Given the description of an element on the screen output the (x, y) to click on. 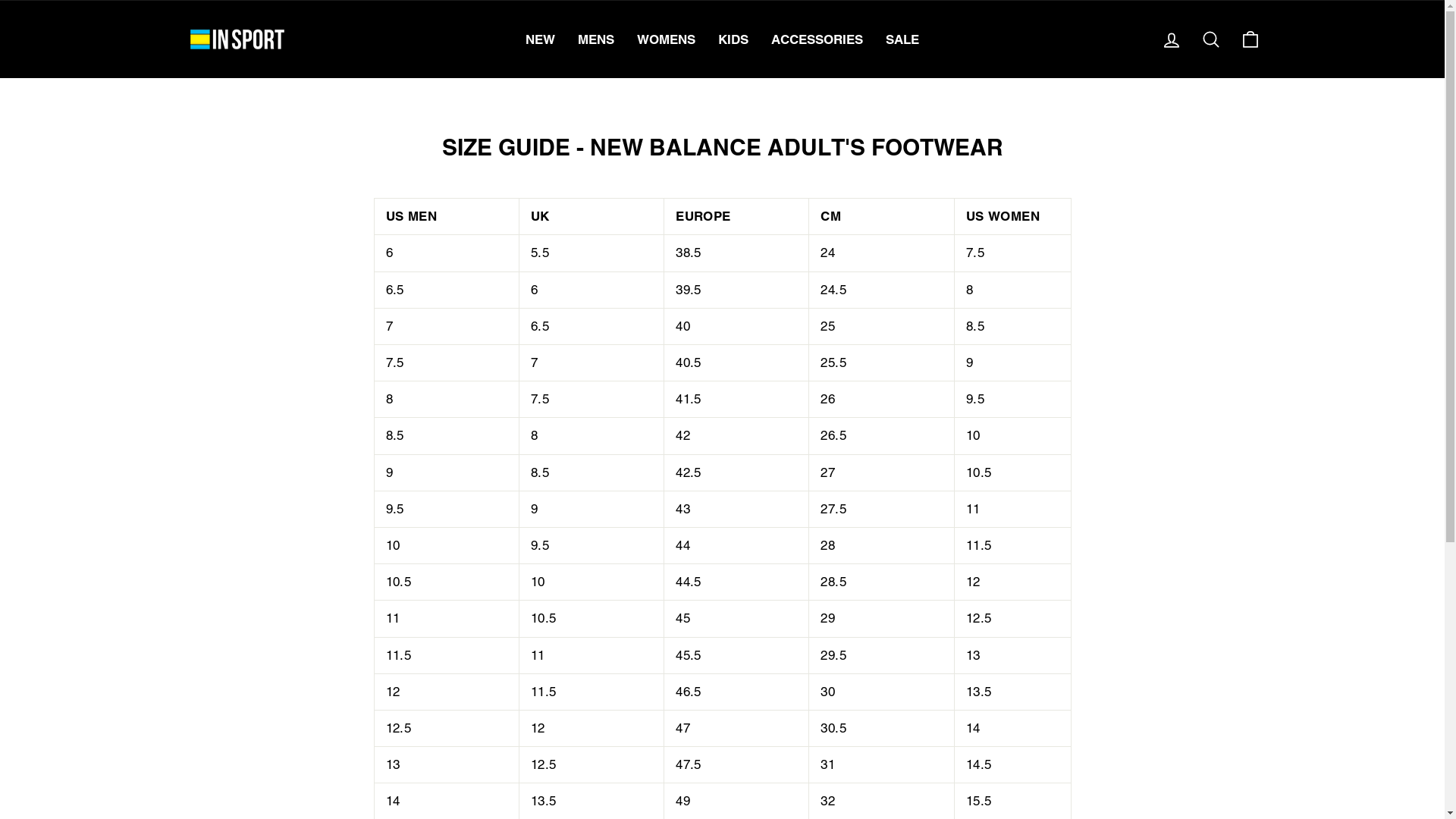
MENS Element type: text (595, 39)
KIDS Element type: text (732, 39)
SALE Element type: text (902, 39)
LOG IN Element type: text (1170, 39)
NEW Element type: text (540, 39)
SEARCH Element type: text (1210, 39)
WOMENS Element type: text (665, 39)
CART Element type: text (1249, 39)
ACCESSORIES Element type: text (816, 39)
